Given the description of an element on the screen output the (x, y) to click on. 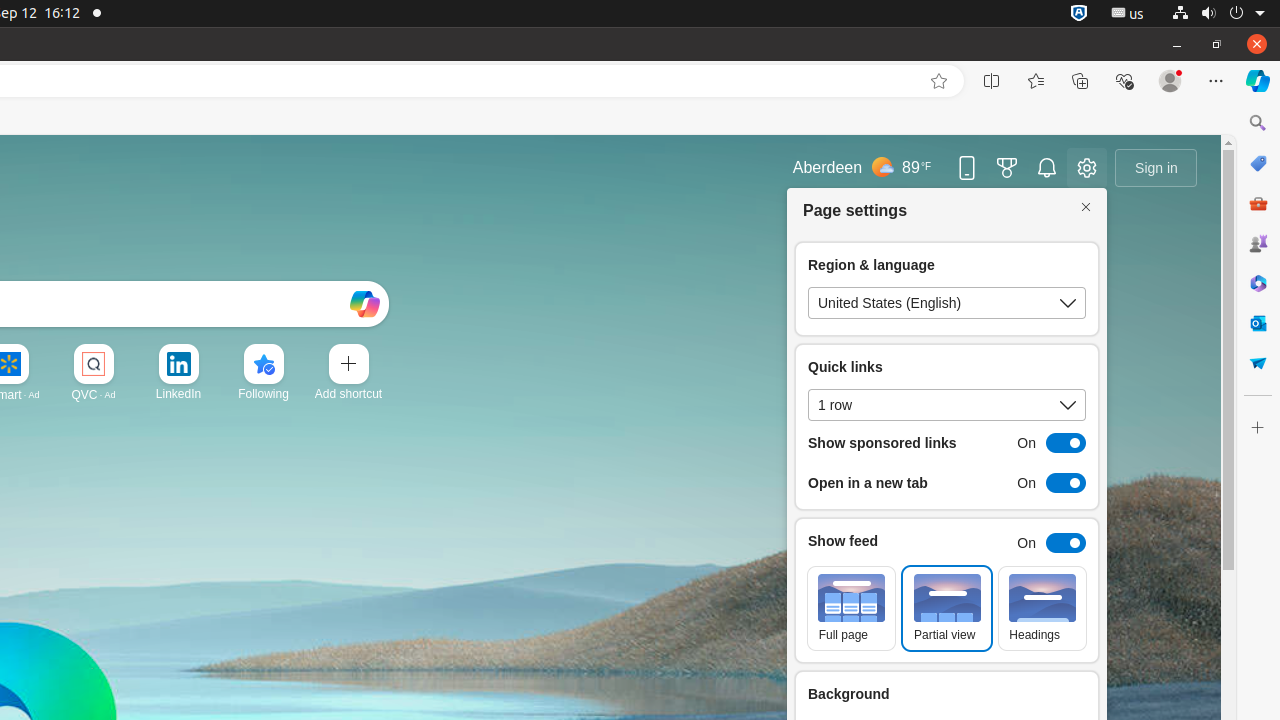
Click to sign into Microsoft Edge Element type: push-button (1156, 168)
Full page Element type: push-button (851, 608)
System Element type: menu (1218, 13)
Page settings Element type: push-button (1087, 168)
Browser essentials Element type: push-button (1124, 81)
